Given the description of an element on the screen output the (x, y) to click on. 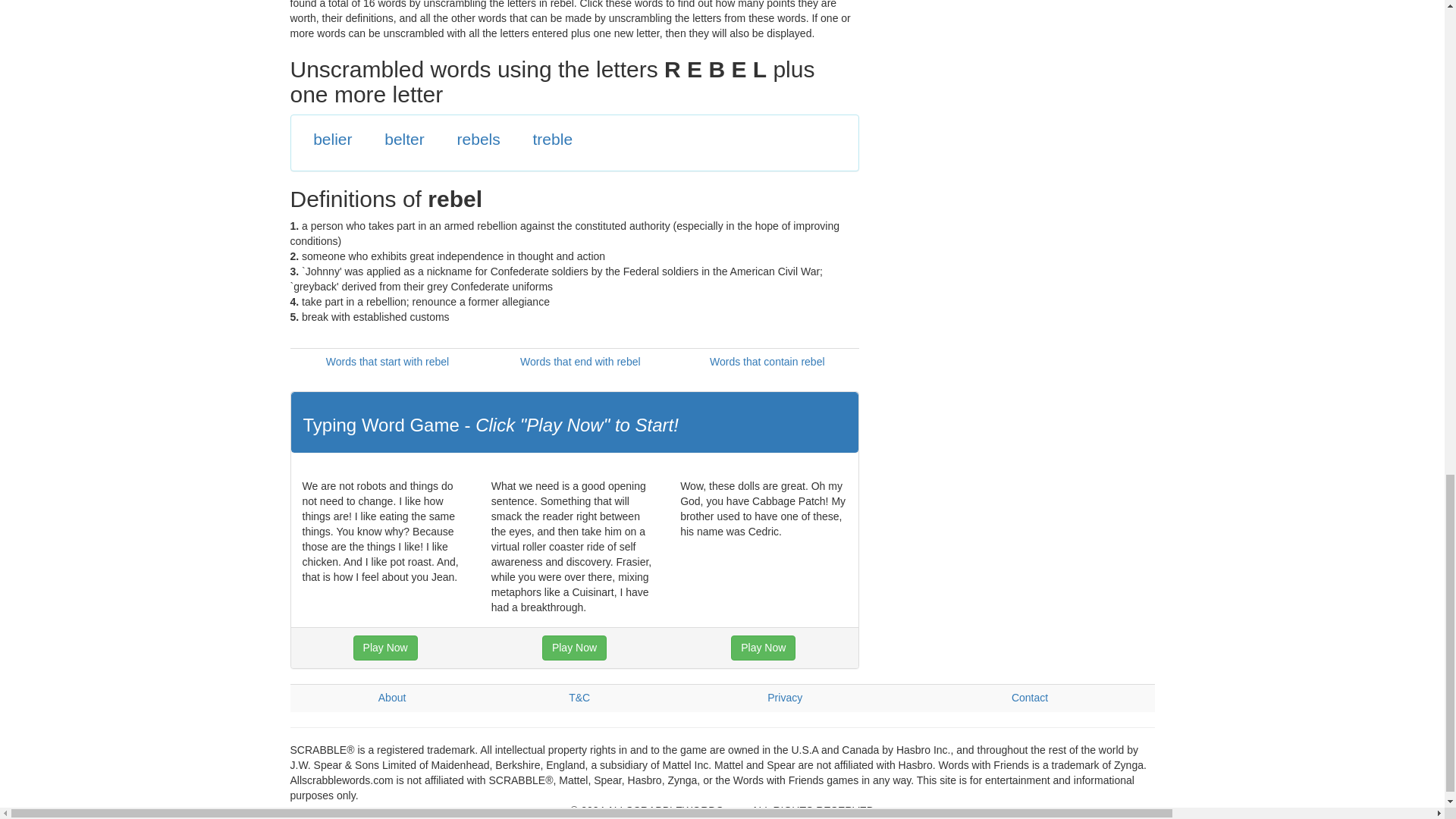
rebels (478, 139)
Privacy (784, 697)
Play Now (385, 647)
About (392, 697)
belier (332, 139)
belter (404, 139)
Words that end with rebel (579, 361)
Play Now (574, 647)
treble (552, 139)
Words that contain rebel (767, 361)
Words that start with rebel (387, 361)
Play Now (762, 647)
